Given the description of an element on the screen output the (x, y) to click on. 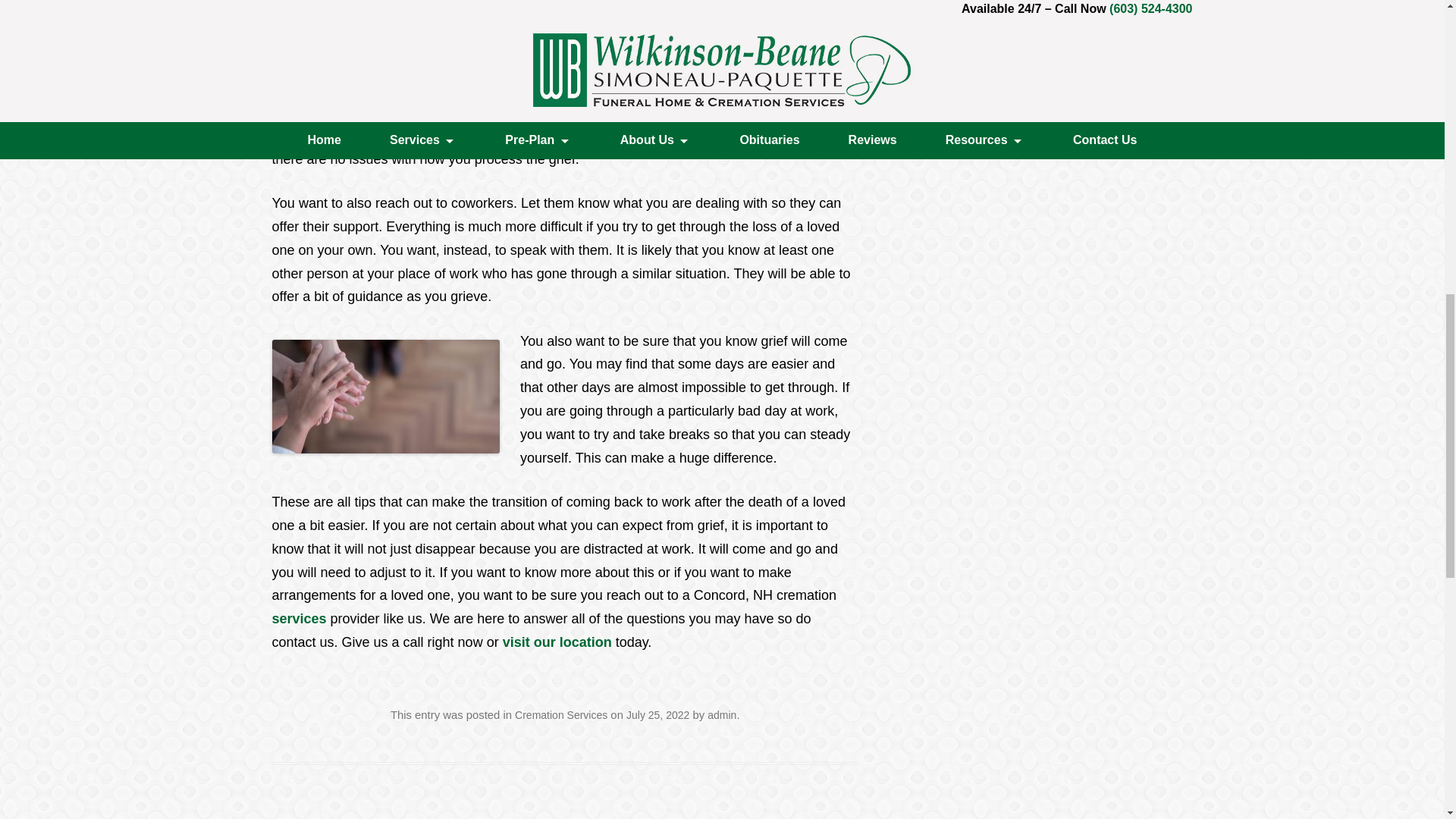
services (298, 618)
View all posts by admin (721, 715)
Cremation Services (561, 715)
admin (721, 715)
visit our location (556, 642)
2:15 pm (657, 715)
July 25, 2022 (657, 715)
